Given the description of an element on the screen output the (x, y) to click on. 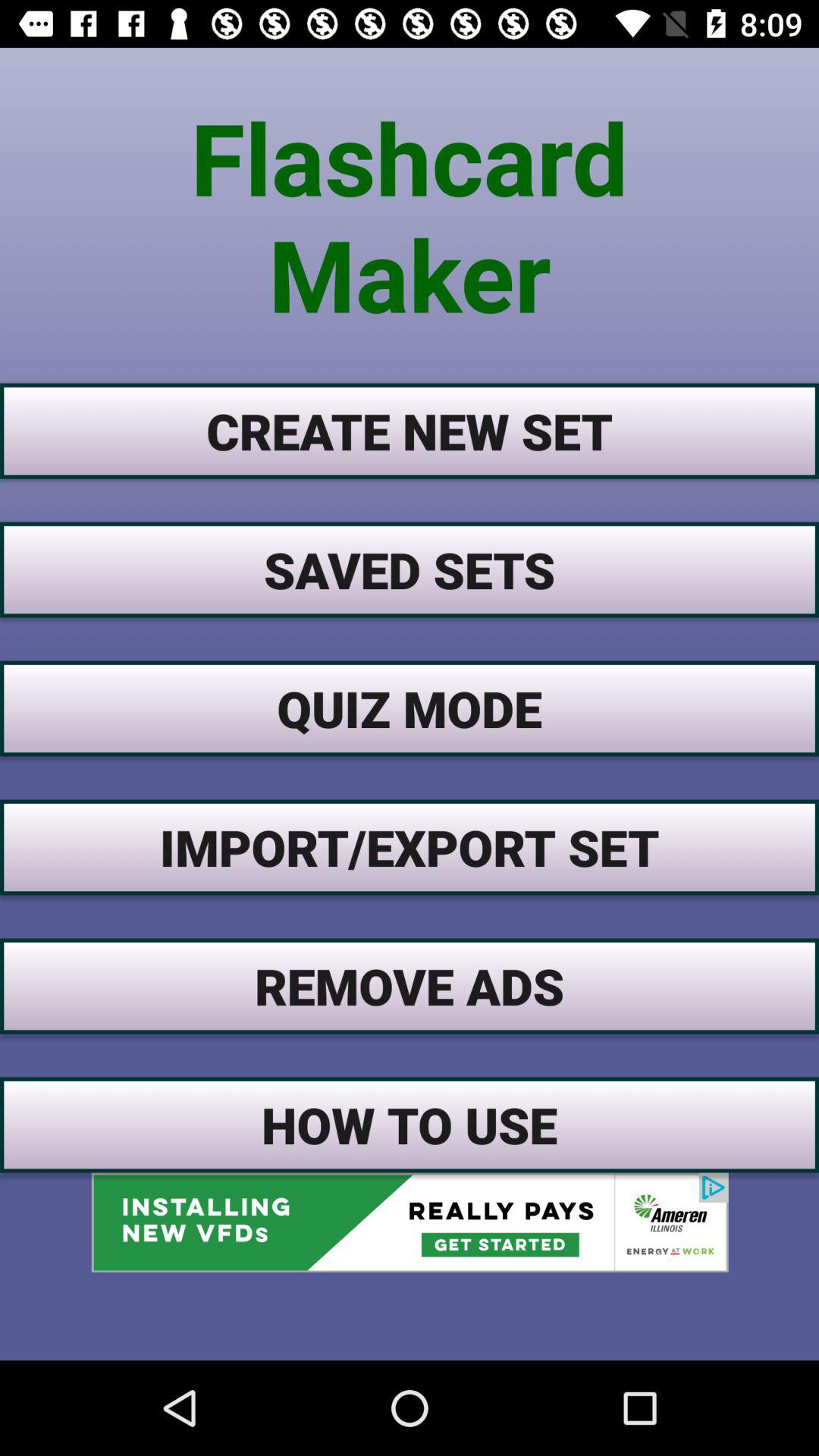
toggle an advertisements (409, 1222)
